Given the description of an element on the screen output the (x, y) to click on. 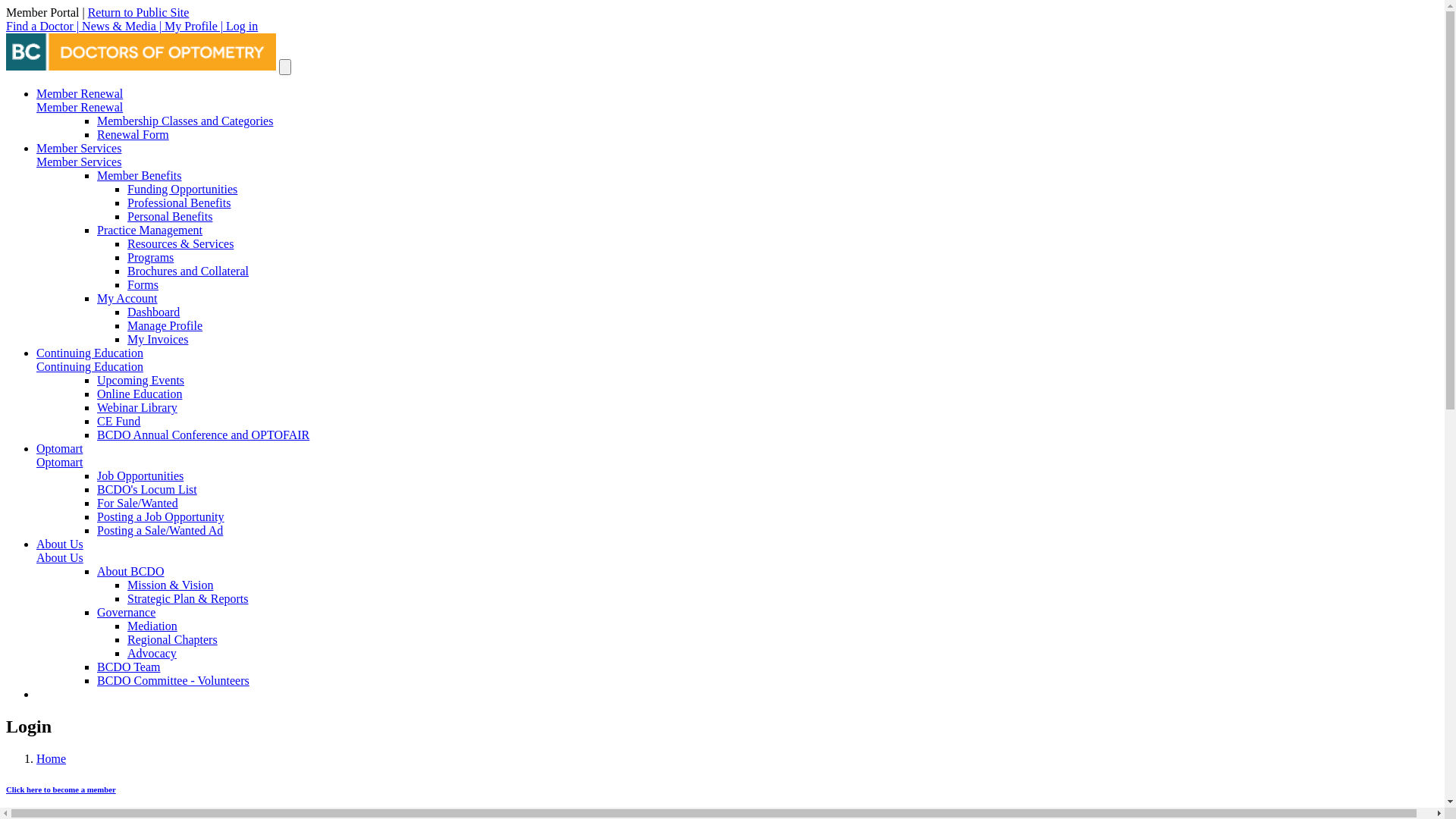
Governance Element type: text (126, 611)
Member Renewal Element type: text (79, 106)
Programs Element type: text (150, 257)
Brochures and Collateral Element type: text (187, 270)
Click here to become a member Element type: text (61, 788)
Posting a Sale/Wanted Ad Element type: text (159, 530)
Member Services Element type: text (78, 161)
Find a Doctor | Element type: text (43, 25)
Member Renewal Element type: text (79, 93)
Member Benefits Element type: text (139, 175)
Continuing Education Element type: text (89, 352)
Log in Element type: text (241, 25)
BCDO Annual Conference and OPTOFAIR Element type: text (203, 434)
CE Fund Element type: text (118, 420)
My Invoices Element type: text (157, 338)
BCDO Team Element type: text (128, 666)
Professional Benefits Element type: text (178, 202)
Forms Element type: text (142, 284)
Posting a Job Opportunity Element type: text (160, 516)
For Sale/Wanted Element type: text (137, 502)
About BCDO Element type: text (130, 570)
Continuing Education Element type: text (89, 366)
Optomart Element type: text (59, 461)
Online Education Element type: text (139, 393)
My Account Element type: text (127, 297)
Regional Chapters Element type: text (172, 639)
Membership Classes and Categories Element type: text (185, 120)
Strategic Plan & Reports Element type: text (187, 598)
Practice Management Element type: text (149, 229)
Return to Public Site Element type: text (138, 12)
Advocacy Element type: text (151, 652)
Mediation Element type: text (152, 625)
Personal Benefits Element type: text (169, 216)
Resources & Services Element type: text (180, 243)
BCDO Committee - Volunteers Element type: text (173, 680)
Home Element type: text (50, 758)
BCDO's Locum List Element type: text (147, 489)
Mission & Vision Element type: text (170, 584)
Renewal Form Element type: text (133, 134)
About Us Element type: text (59, 543)
Manage Profile Element type: text (164, 325)
My Profile | Element type: text (194, 25)
Member Portal | Element type: text (46, 12)
Member Services Element type: text (78, 147)
Upcoming Events Element type: text (140, 379)
Webinar Library Element type: text (137, 407)
News & Media | Element type: text (122, 25)
Dashboard Element type: text (153, 311)
Job Opportunities Element type: text (140, 475)
Optomart Element type: text (59, 448)
About Us Element type: text (59, 557)
Funding Opportunities Element type: text (182, 188)
